Given the description of an element on the screen output the (x, y) to click on. 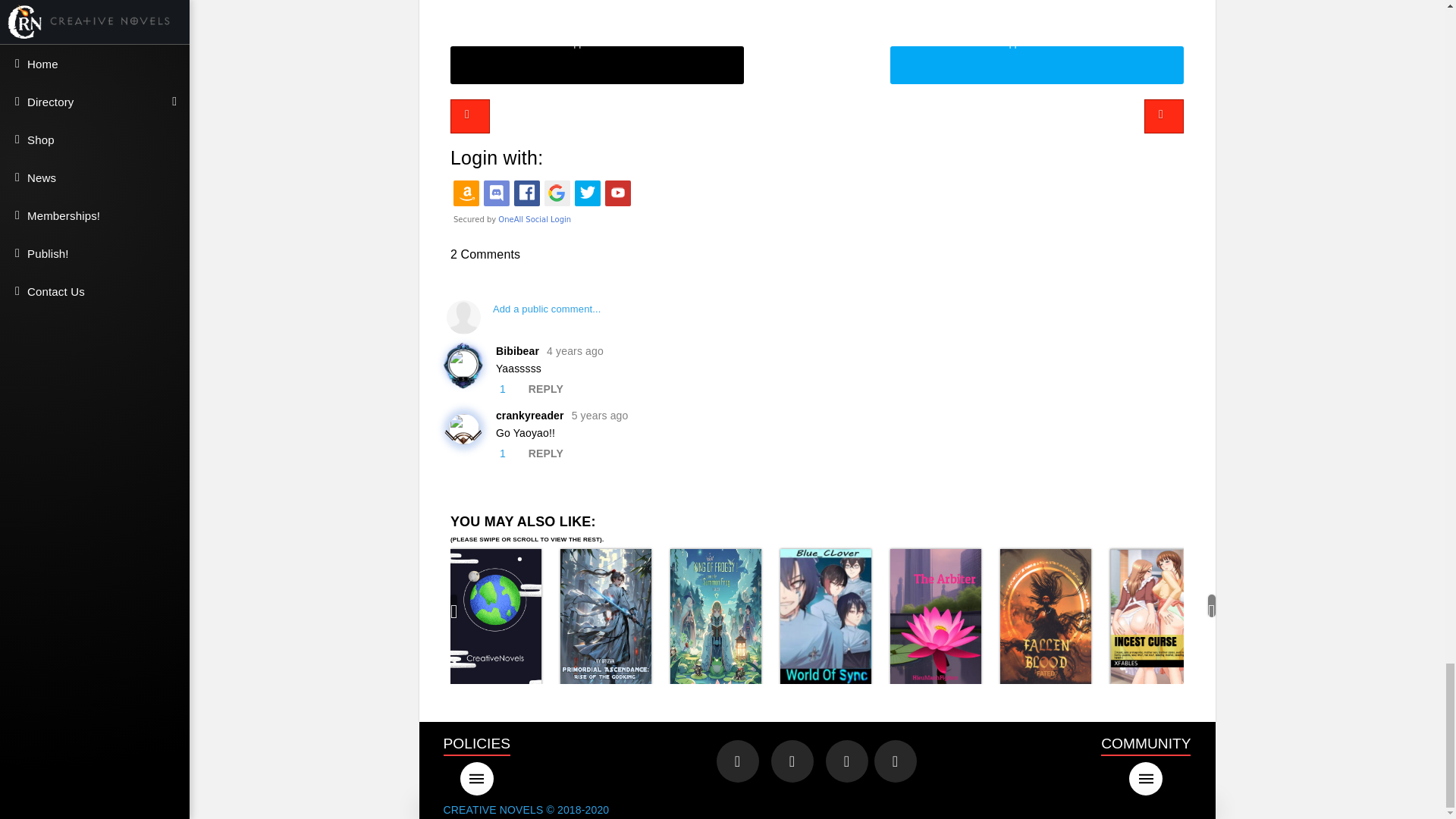
Add a public comment... (816, 317)
Login with Social Networks (816, 201)
1REPLY (820, 389)
1REPLY (820, 453)
